Given the description of an element on the screen output the (x, y) to click on. 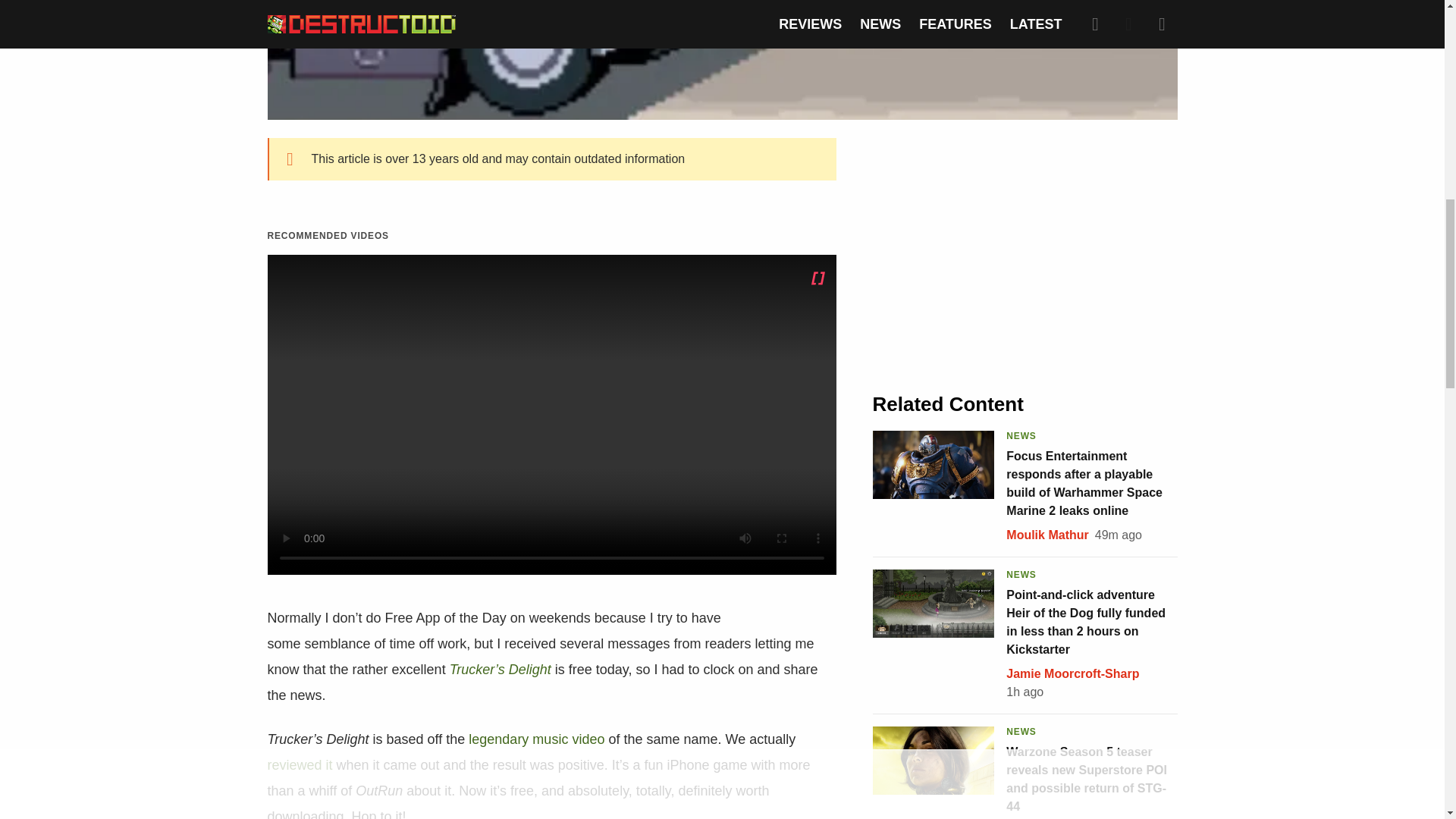
3rd party ad content (1024, 251)
